Given the description of an element on the screen output the (x, y) to click on. 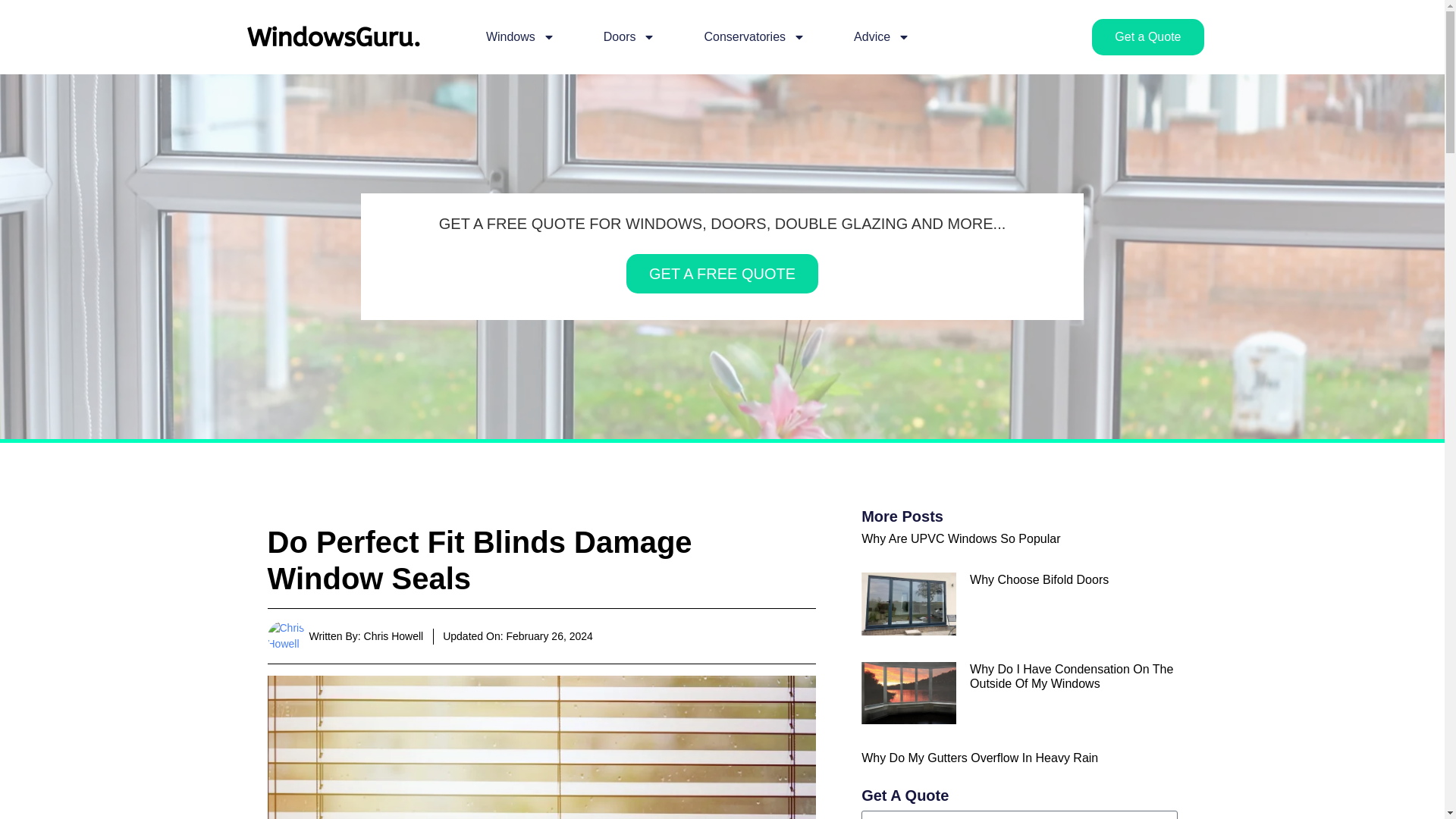
Conservatories (754, 36)
Advice (881, 36)
Doors (630, 36)
Windows (520, 36)
